Given the description of an element on the screen output the (x, y) to click on. 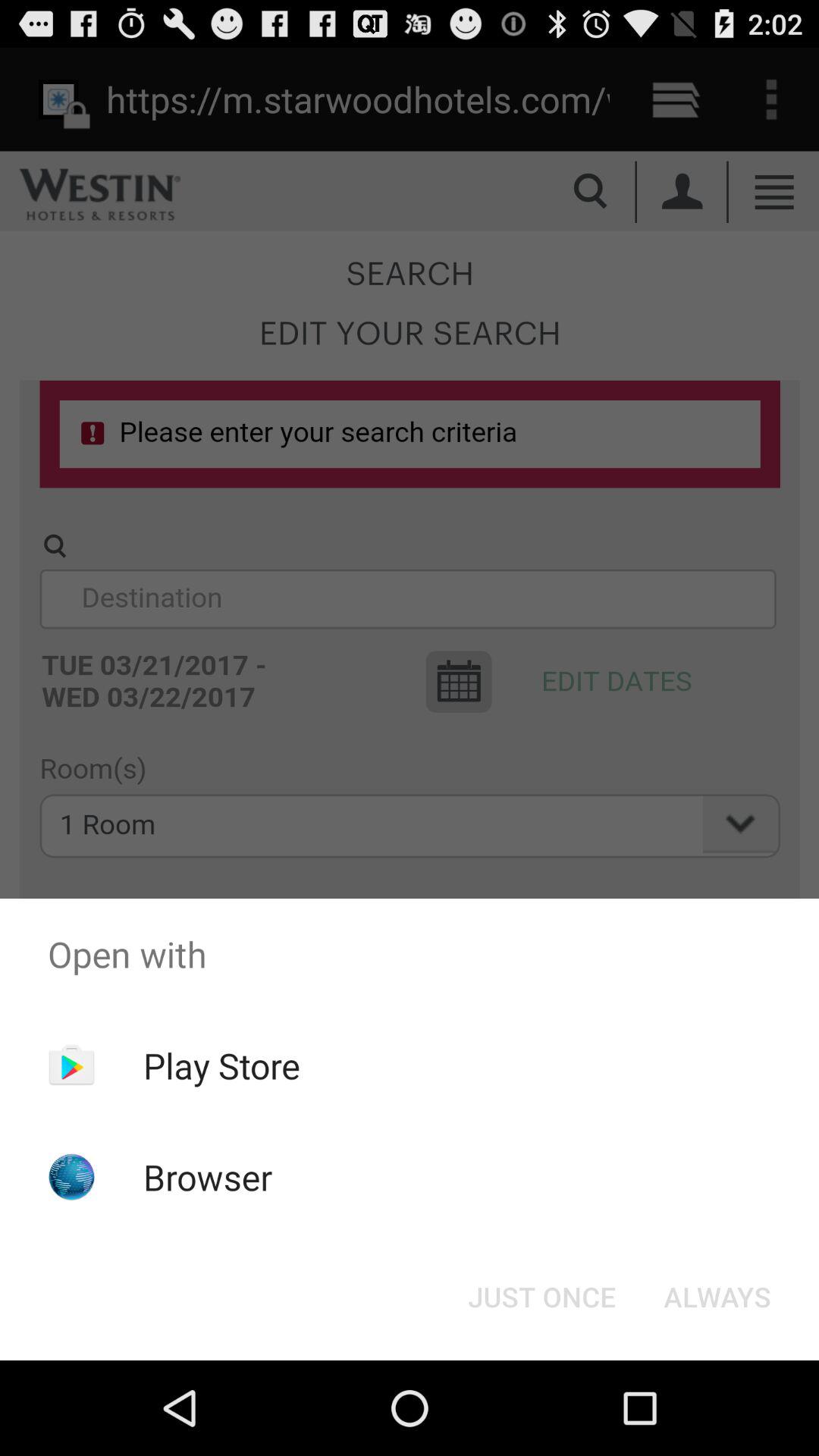
turn on app below the open with (221, 1065)
